Given the description of an element on the screen output the (x, y) to click on. 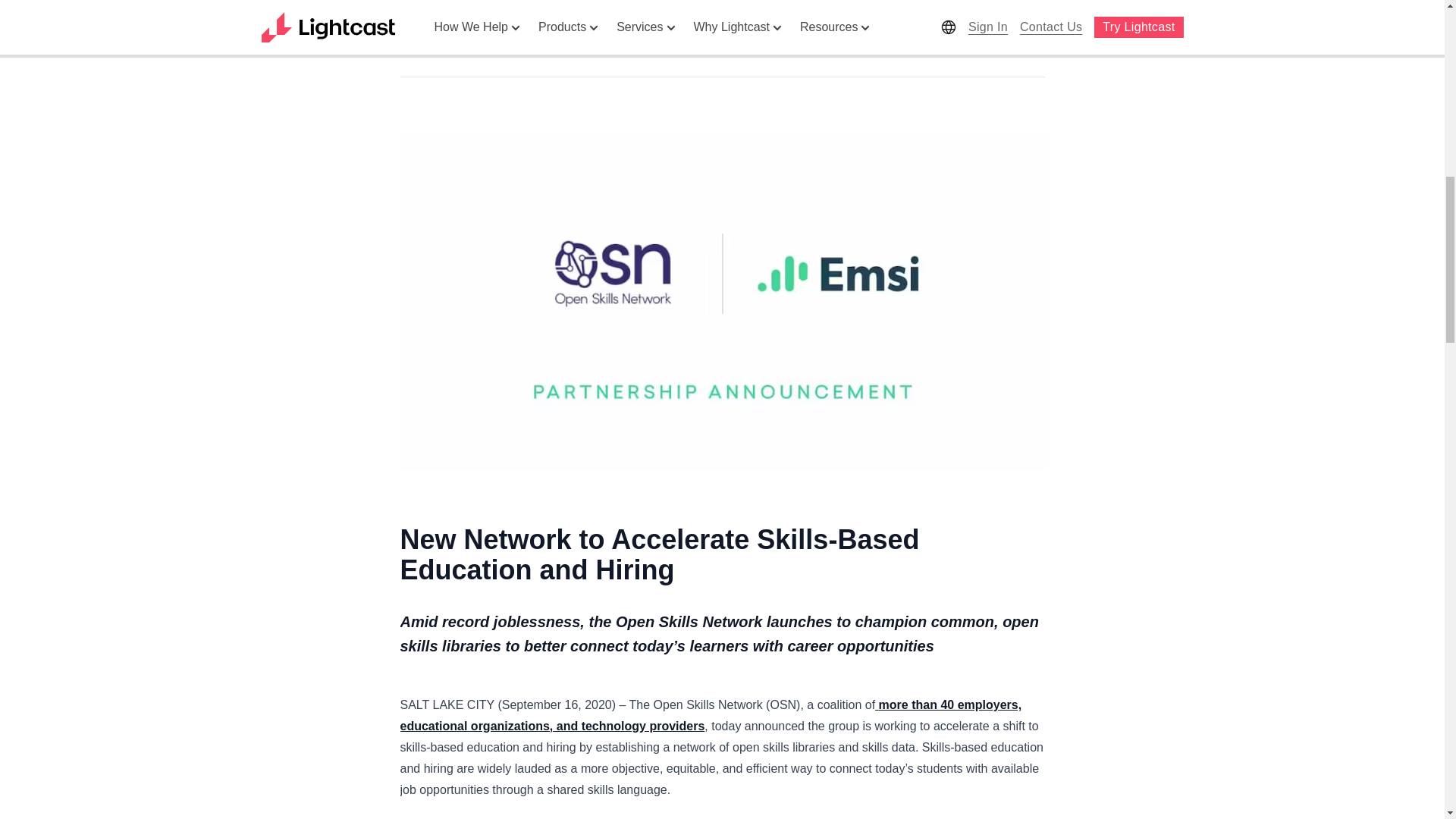
Purdue Global (497, 29)
WGU (414, 29)
